Given the description of an element on the screen output the (x, y) to click on. 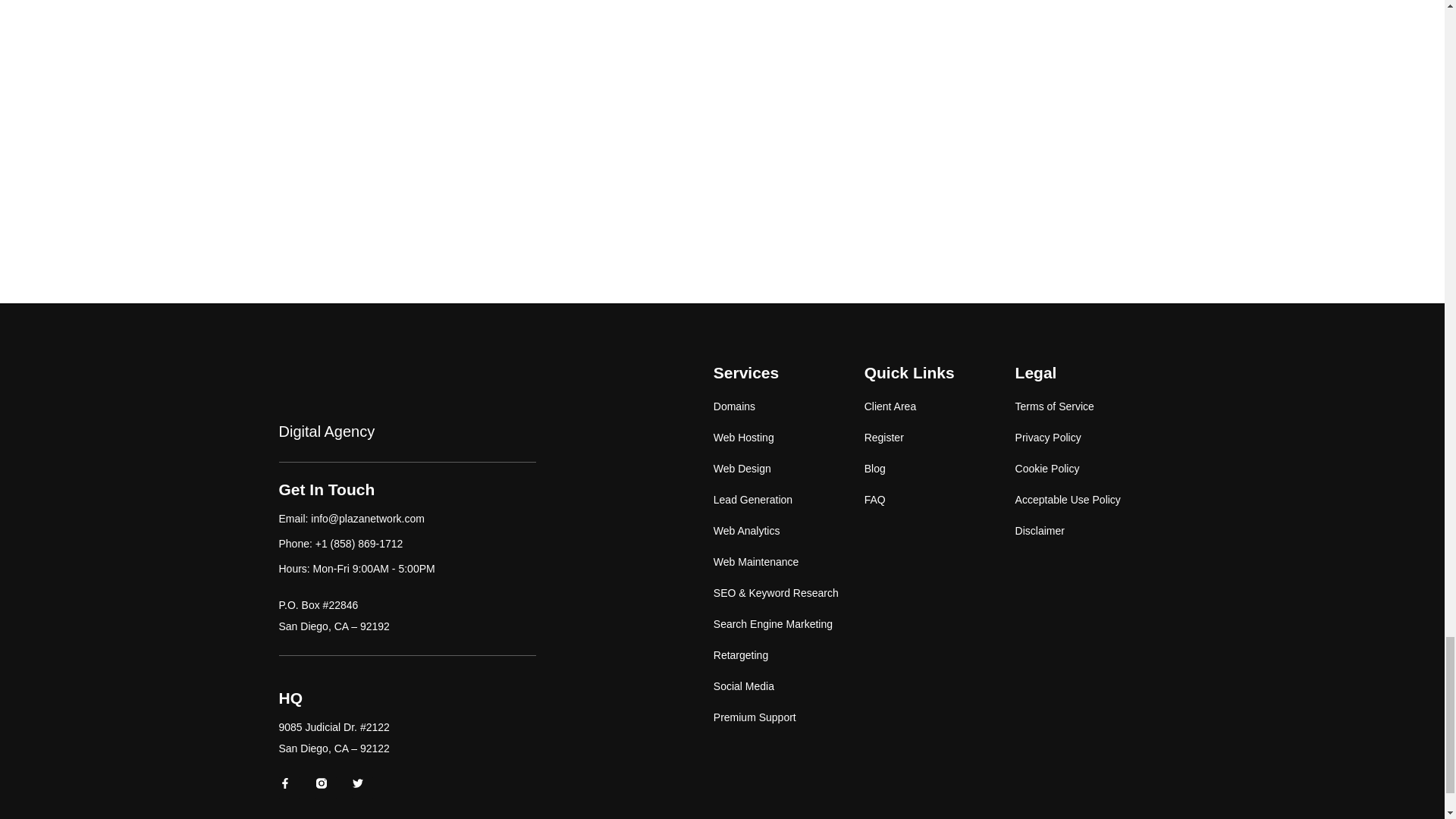
Web Analytics (788, 530)
Lead Generation (788, 499)
Web Maintenance (788, 562)
Domains (788, 406)
Web Hosting (788, 437)
Search Engine Marketing (788, 624)
Web Design (788, 468)
